Given the description of an element on the screen output the (x, y) to click on. 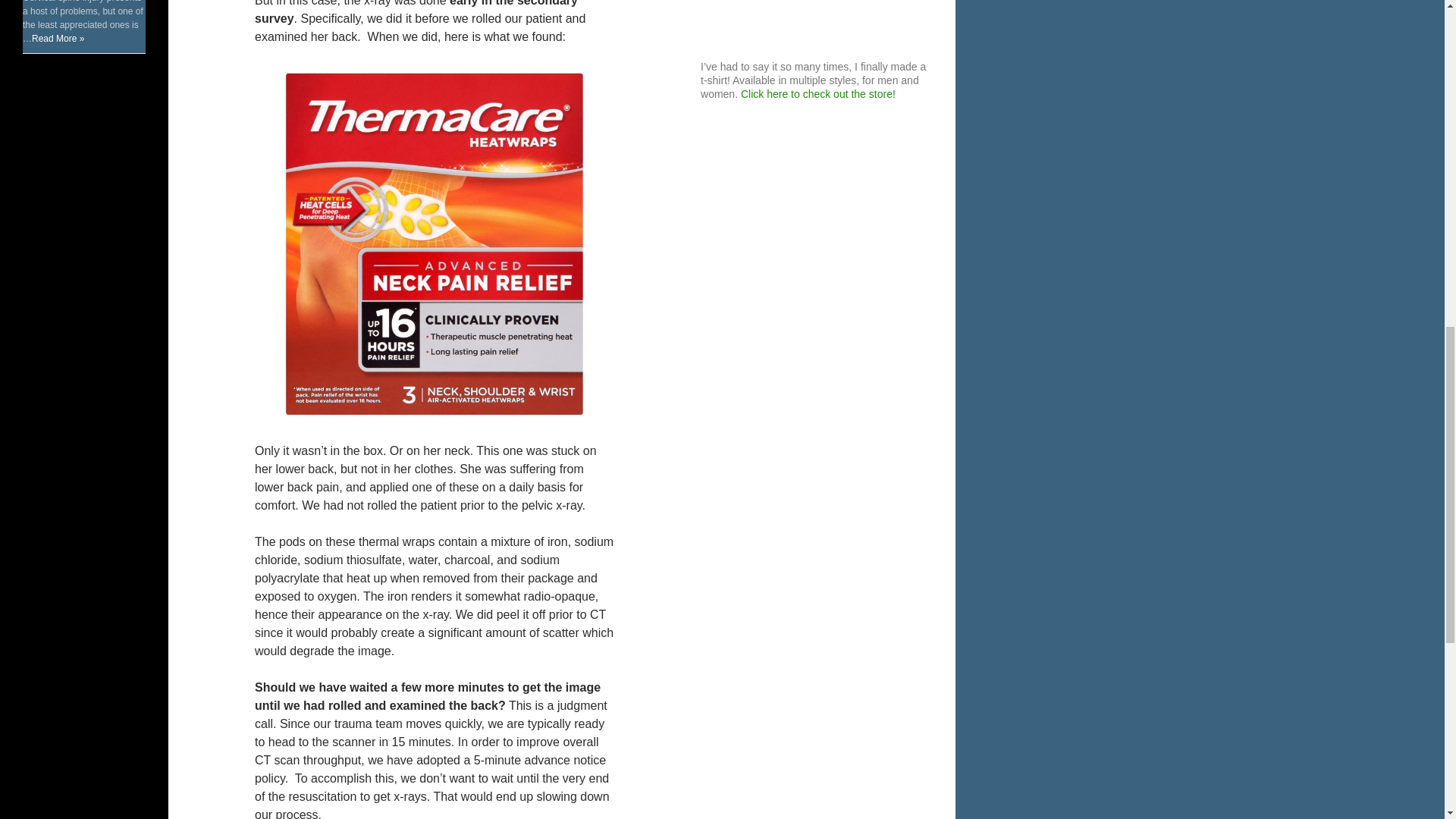
Click here to check out the store! (818, 93)
